Given the description of an element on the screen output the (x, y) to click on. 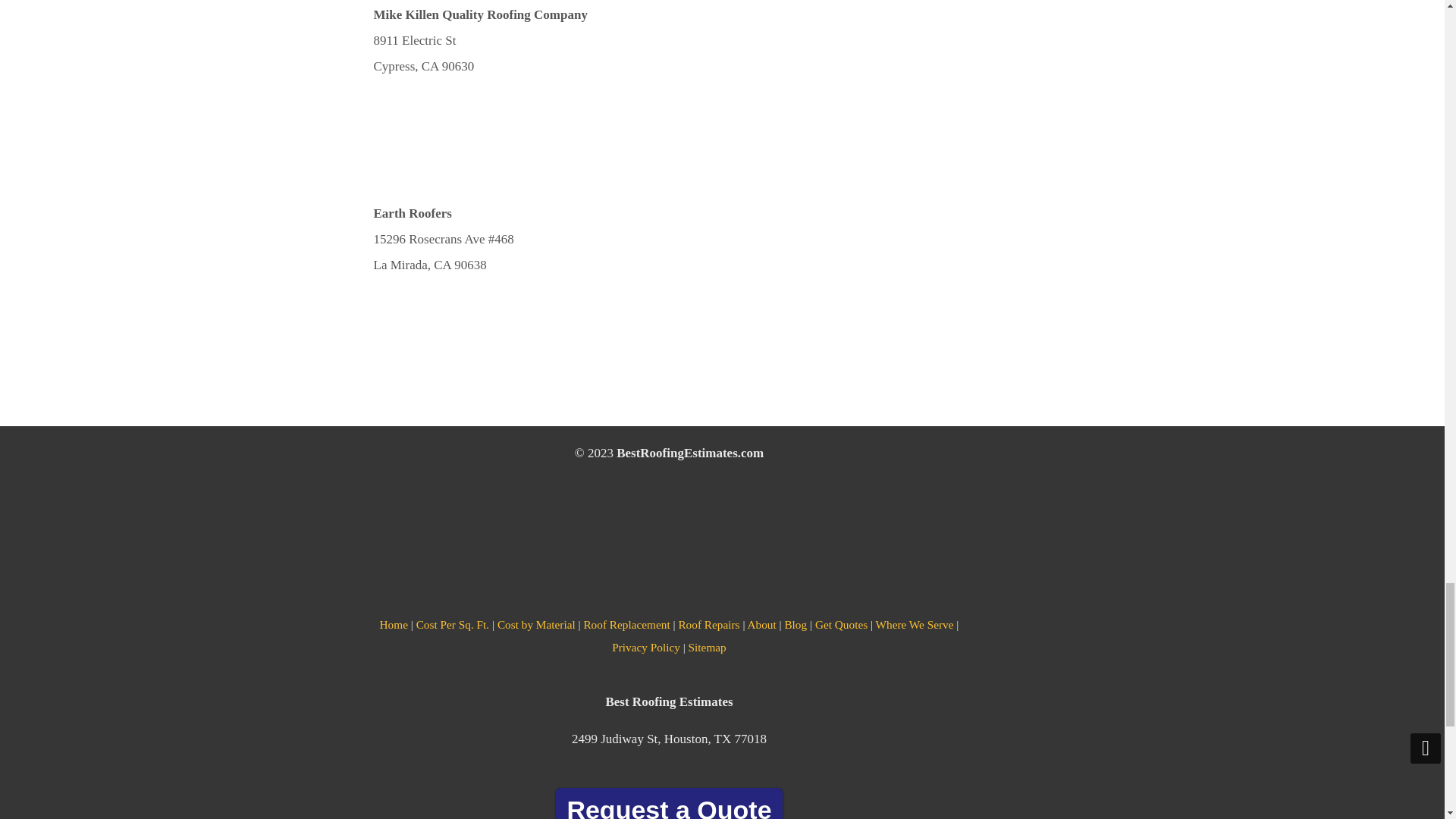
Roofing Cost By The Square Foot (452, 624)
Best Roofing Estimates (393, 624)
